Given the description of an element on the screen output the (x, y) to click on. 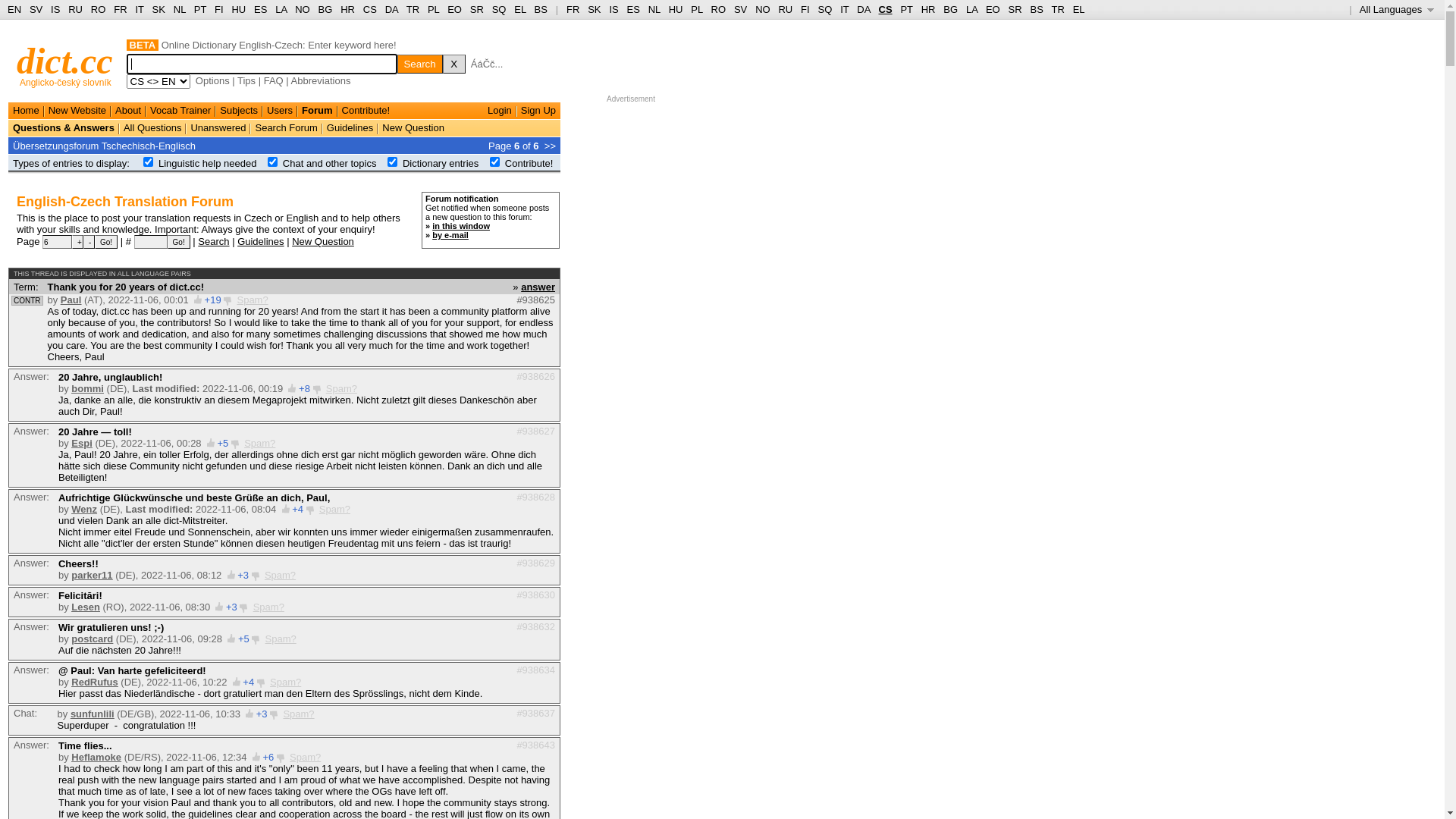
RedRufus Element type: text (94, 681)
+8 Element type: text (304, 388)
RO Element type: text (718, 9)
NO Element type: text (762, 9)
#938629 Element type: text (535, 561)
BS Element type: text (1035, 9)
Options Element type: text (212, 80)
TR Element type: text (1057, 9)
#938628 Element type: text (535, 496)
answer Element type: text (537, 285)
#938625 Element type: text (535, 299)
Guidelines Element type: text (260, 240)
Paul Element type: text (70, 299)
Users Element type: text (279, 110)
Wenz Element type: text (84, 508)
RO Element type: text (98, 9)
+19 Element type: text (212, 299)
FI Element type: text (804, 9)
Dictionary entries Element type: text (440, 163)
Go! Element type: text (178, 241)
PL Element type: text (433, 9)
PL Element type: text (696, 9)
Spam? Element type: text (334, 508)
Spam? Element type: text (251, 299)
Vocab Trainer Element type: text (180, 110)
FR Element type: text (119, 9)
All Languages  Element type: text (1396, 9)
TR Element type: text (412, 9)
English-Czech Translation Forum Element type: text (124, 201)
HU Element type: text (238, 9)
ES Element type: text (633, 9)
HR Element type: text (347, 9)
#938632 Element type: text (535, 625)
Heflamoke Element type: text (96, 756)
About Element type: text (128, 110)
Login Element type: text (499, 110)
Search Forum Element type: text (285, 127)
BG Element type: text (325, 9)
on Element type: text (392, 161)
NL Element type: text (179, 9)
Contribute! Element type: text (529, 163)
PT Element type: text (200, 9)
IT Element type: text (844, 9)
dict.cc Element type: text (64, 60)
>> Element type: text (549, 144)
New Question Element type: text (322, 240)
NO Element type: text (302, 9)
Spam? Element type: text (285, 681)
Unanswered Element type: text (217, 127)
DA Element type: text (391, 9)
CONTR Element type: text (26, 300)
Spam? Element type: text (259, 442)
New Question Element type: text (413, 127)
Spam? Element type: text (279, 574)
Spam? Element type: text (341, 388)
All Questions Element type: text (152, 127)
IS Element type: text (54, 9)
+5 Element type: text (243, 638)
Home Element type: text (25, 110)
postcard Element type: text (91, 638)
+6 Element type: text (267, 756)
Spam? Element type: text (297, 713)
EL Element type: text (519, 9)
IS Element type: text (613, 9)
SV Element type: text (35, 9)
ES Element type: text (260, 9)
bommi Element type: text (87, 388)
+3 Element type: text (242, 574)
Spam? Element type: text (268, 606)
IT Element type: text (138, 9)
Linguistic help needed Element type: text (207, 163)
+4 Element type: text (297, 508)
FR Element type: text (572, 9)
RU Element type: text (785, 9)
Questions & Answers Element type: text (63, 127)
+4 Element type: text (248, 681)
X Element type: text (453, 63)
EO Element type: text (992, 9)
SQ Element type: text (499, 9)
SK Element type: text (158, 9)
sunfunlili Element type: text (92, 713)
FAQ Element type: text (273, 80)
Spam? Element type: text (304, 756)
+5 Element type: text (222, 442)
parker11 Element type: text (91, 574)
CS Element type: text (369, 9)
Contribute! Element type: text (366, 110)
#938634 Element type: text (535, 669)
Chat and other topics Element type: text (329, 163)
EL Element type: text (1079, 9)
SK Element type: text (593, 9)
SV Element type: text (740, 9)
on Element type: text (272, 161)
NL Element type: text (654, 9)
BS Element type: text (540, 9)
Espi Element type: text (81, 442)
BG Element type: text (950, 9)
HR Element type: text (928, 9)
Search Element type: text (213, 240)
EN Element type: text (14, 9)
Spam? Element type: text (280, 638)
LA Element type: text (971, 9)
DA Element type: text (862, 9)
#938627 Element type: text (535, 430)
Guidelines Element type: text (349, 127)
#938626 Element type: text (535, 375)
PT Element type: text (906, 9)
Go! Element type: text (105, 241)
SR Element type: text (1015, 9)
Search Element type: text (419, 63)
New Website Element type: text (77, 110)
on Element type: text (148, 161)
Subjects Element type: text (238, 110)
LA Element type: text (280, 9)
on Element type: text (494, 161)
RU Element type: text (75, 9)
Tips Element type: text (246, 80)
SQ Element type: text (824, 9)
CS Element type: text (884, 9)
#938630 Element type: text (535, 593)
+3 Element type: text (231, 606)
#938643 Element type: text (535, 743)
Abbreviations Element type: text (321, 80)
#938637 Element type: text (535, 712)
SR Element type: text (476, 9)
EO Element type: text (454, 9)
Lesen Element type: text (85, 606)
Forum Element type: text (316, 110)
+3 Element type: text (261, 713)
Sign Up Element type: text (537, 110)
FI Element type: text (218, 9)
HU Element type: text (675, 9)
